Given the description of an element on the screen output the (x, y) to click on. 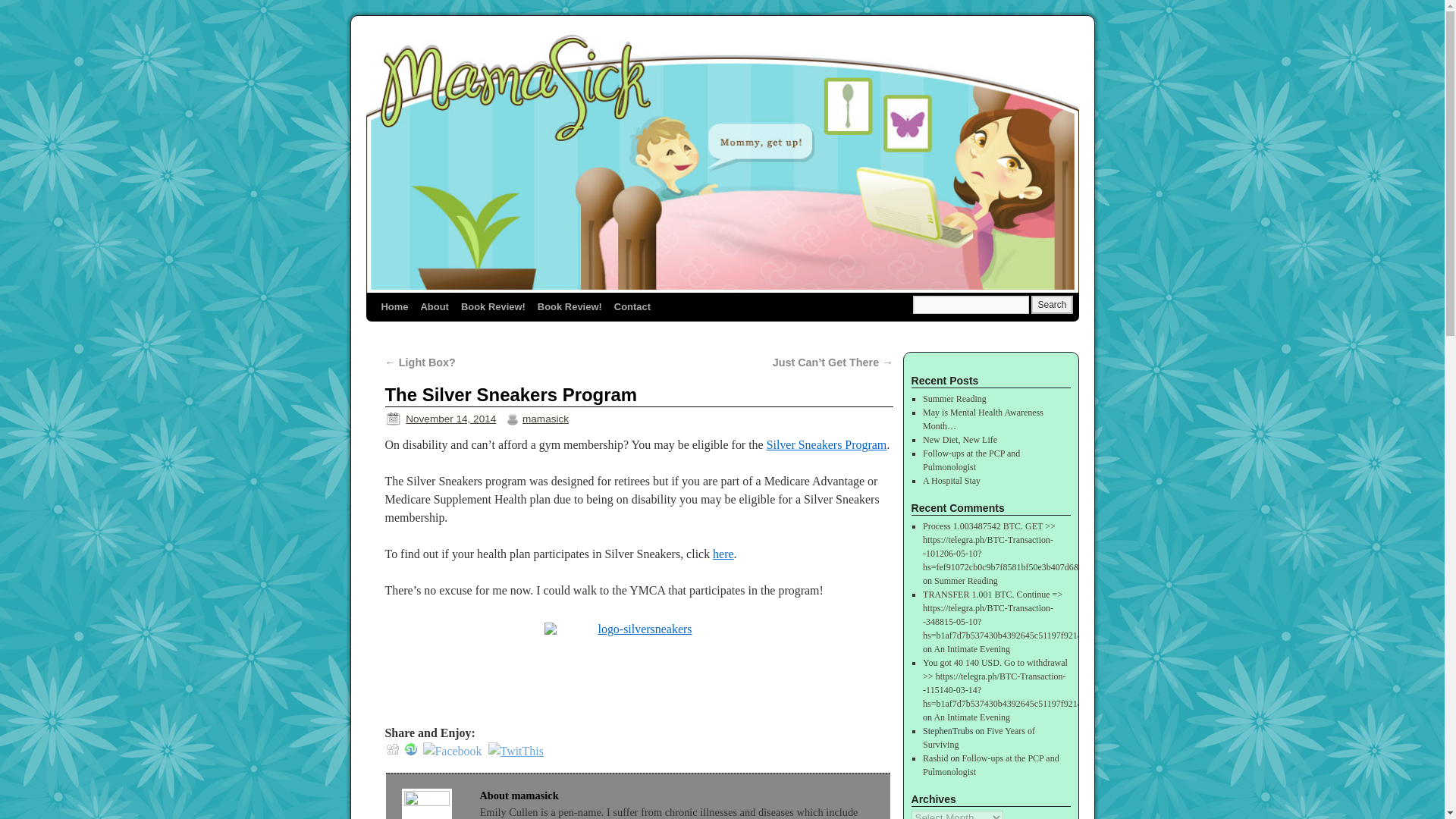
Book Review! (569, 306)
Follow-ups at the PCP and Pulmonologist (971, 459)
mamasick (545, 419)
A Hospital Stay (951, 480)
Silver Sneakers Program (826, 444)
An Intimate Evening (971, 648)
Summer Reading (965, 580)
Home (393, 306)
Permalink to The Silver Sneakers Program (511, 394)
Digg (392, 748)
Summer Reading (955, 398)
TwitThis (515, 750)
11:01 am (451, 419)
Search (1050, 304)
here (723, 553)
